Given the description of an element on the screen output the (x, y) to click on. 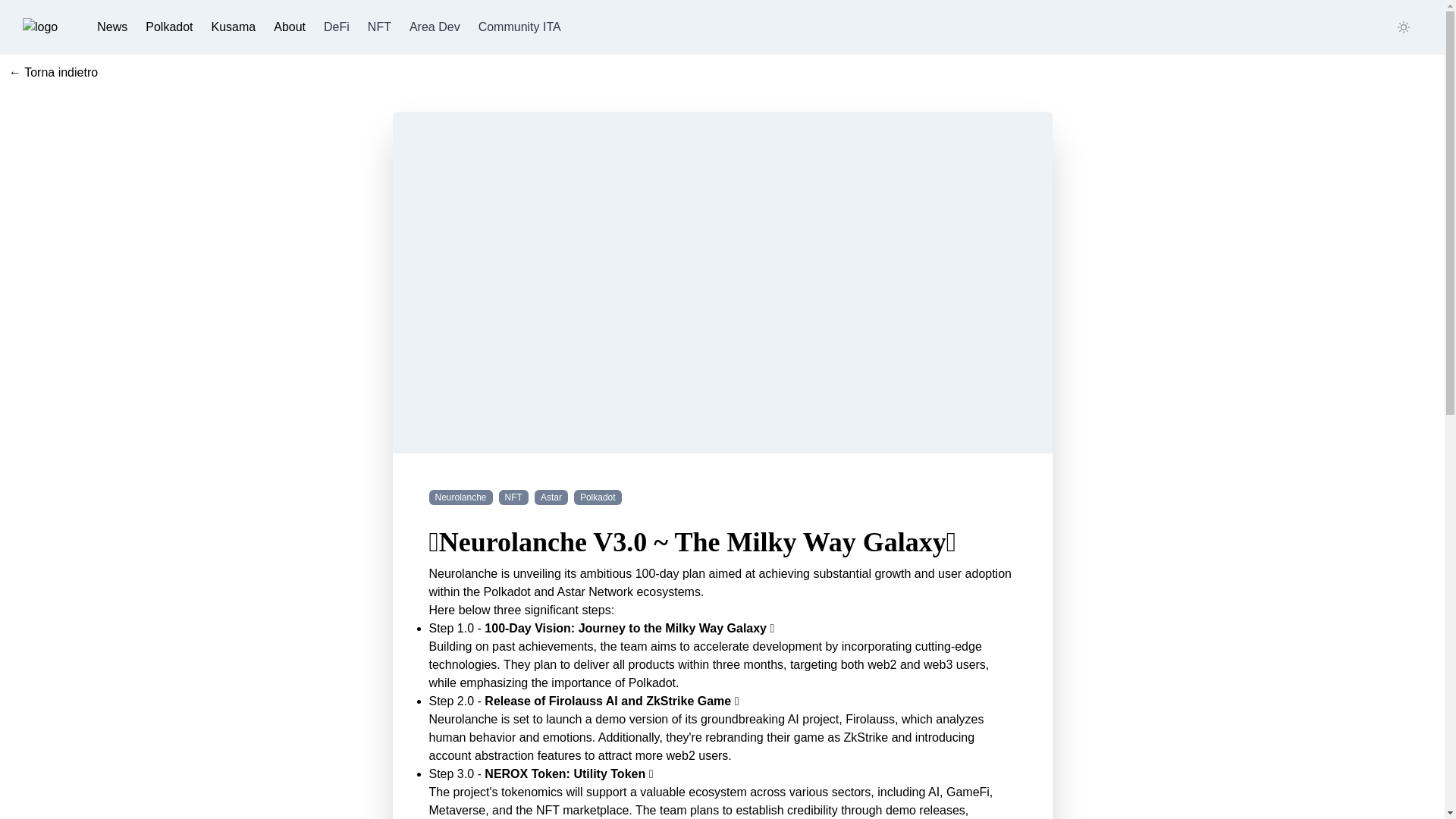
Astar (550, 498)
Neurolanche (461, 498)
Kusama (233, 27)
Polkadot (169, 27)
NFT (379, 27)
Area Dev (434, 27)
News (111, 27)
DeFi (336, 27)
Community ITA (519, 27)
About (289, 27)
Polkadot (597, 498)
NFT (513, 498)
